Given the description of an element on the screen output the (x, y) to click on. 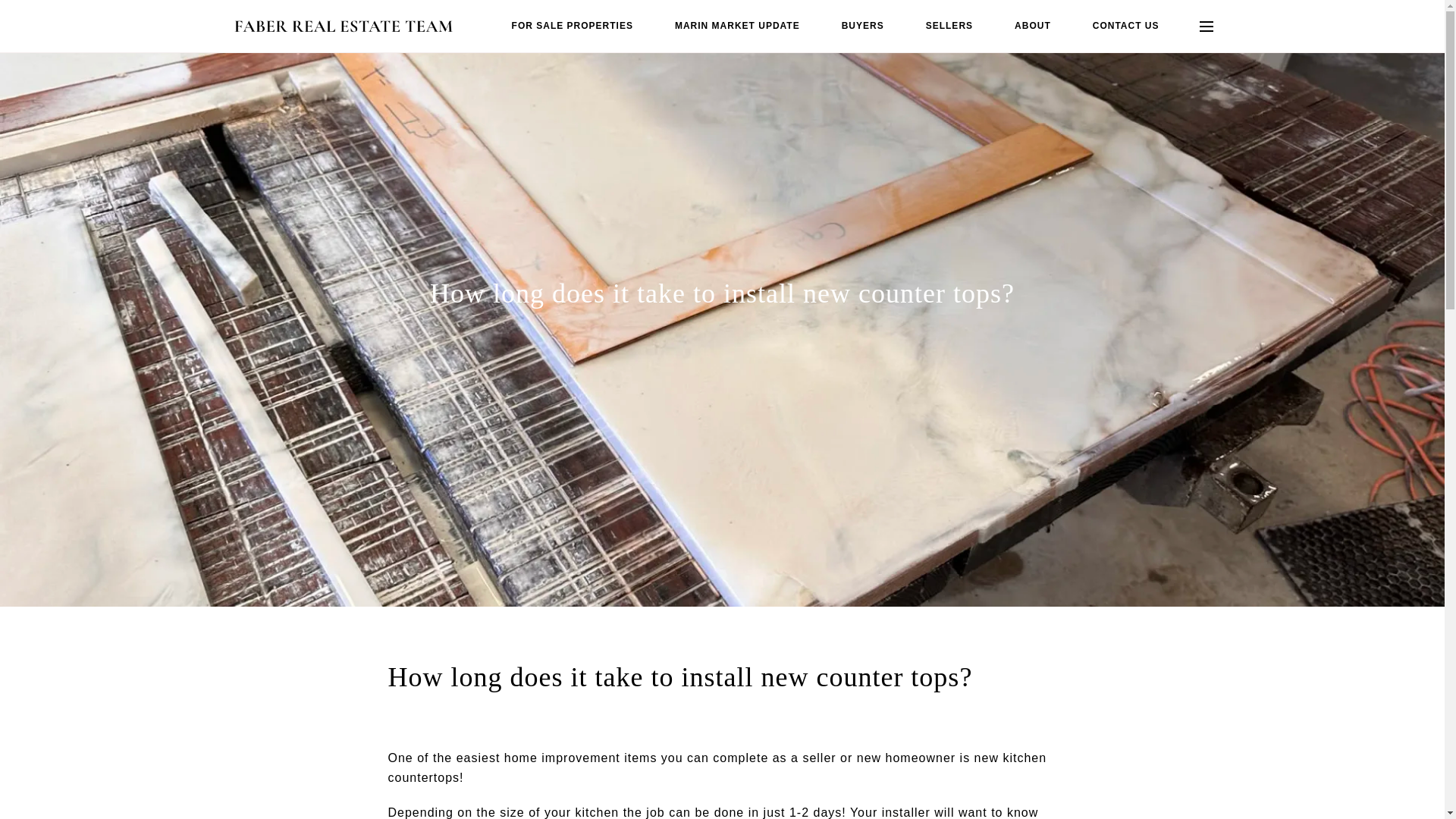
seller (818, 757)
SELLERS (949, 25)
BUYERS (862, 25)
CONTACT US (1125, 25)
ABOUT (1032, 25)
FOR SALE PROPERTIES (572, 25)
